Given the description of an element on the screen output the (x, y) to click on. 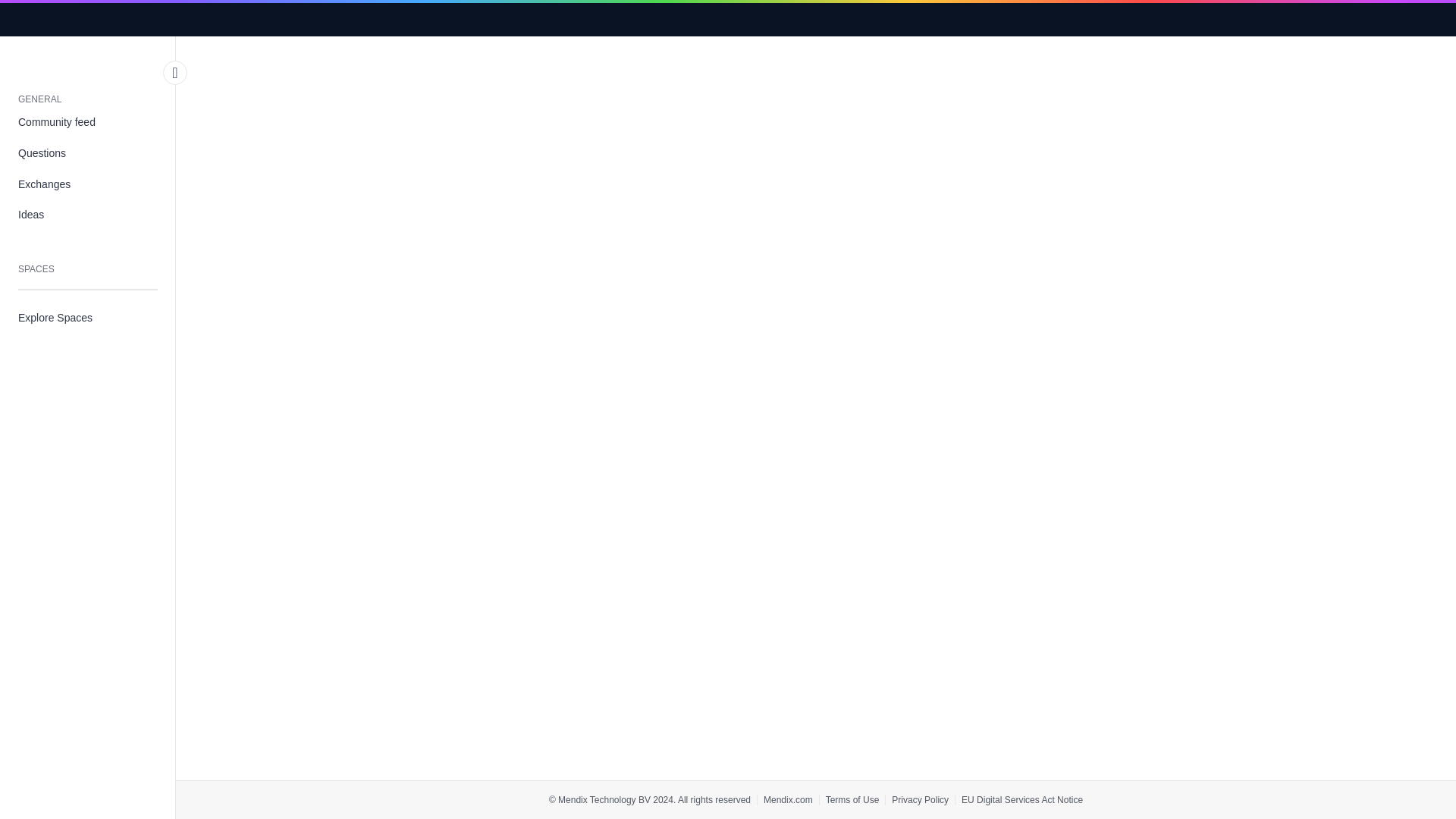
Explore Spaces (87, 317)
EU Digital Services Act Notice (1021, 799)
Questions (87, 153)
Privacy Policy (920, 799)
Collapse Menu (175, 72)
Mendix.com (787, 799)
Terms of Use (852, 799)
Community feed (87, 122)
Ideas (87, 214)
Exchanges (87, 183)
